Given the description of an element on the screen output the (x, y) to click on. 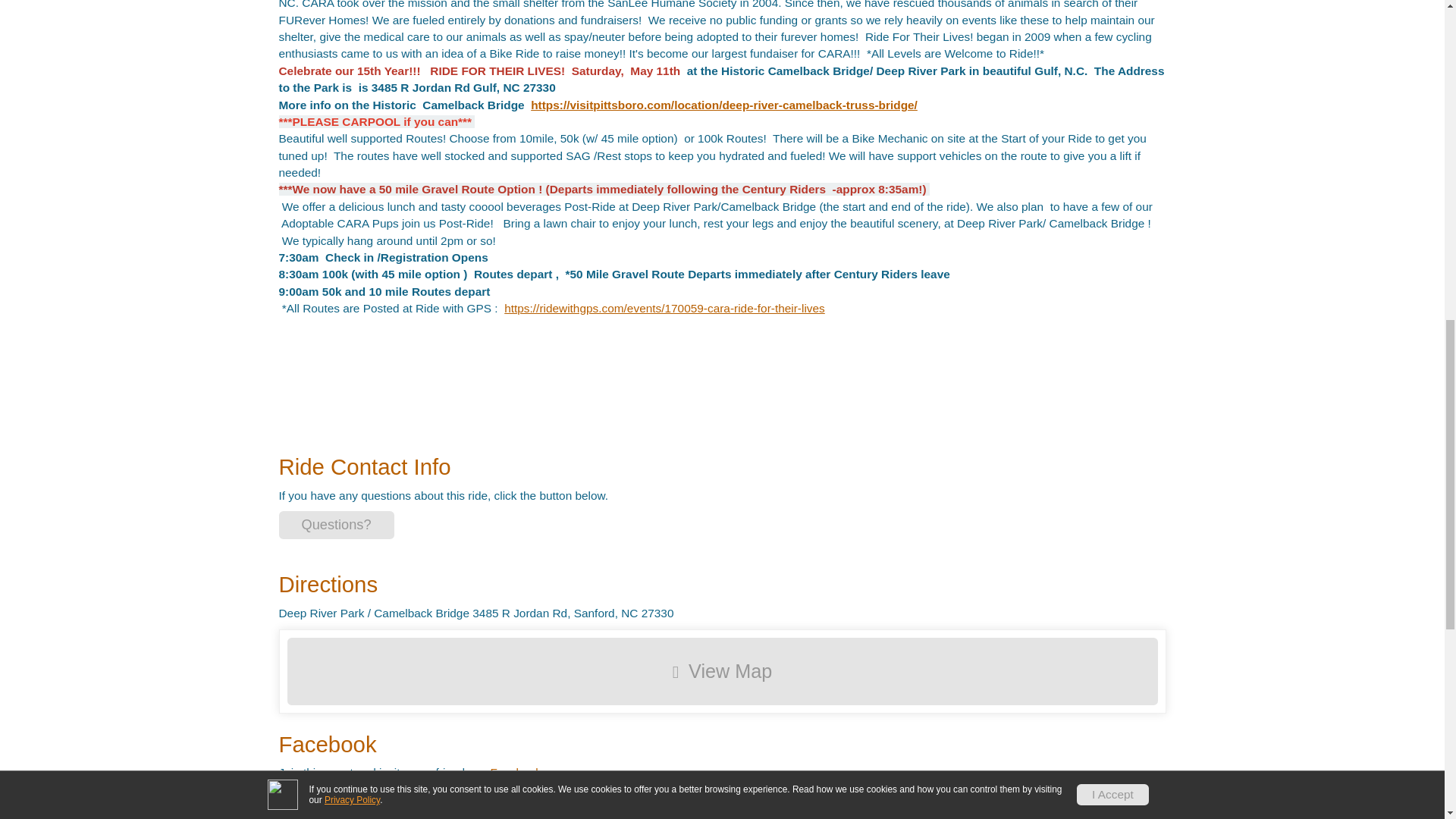
Questions? (336, 524)
Facebook (515, 771)
View Map (721, 671)
